Given the description of an element on the screen output the (x, y) to click on. 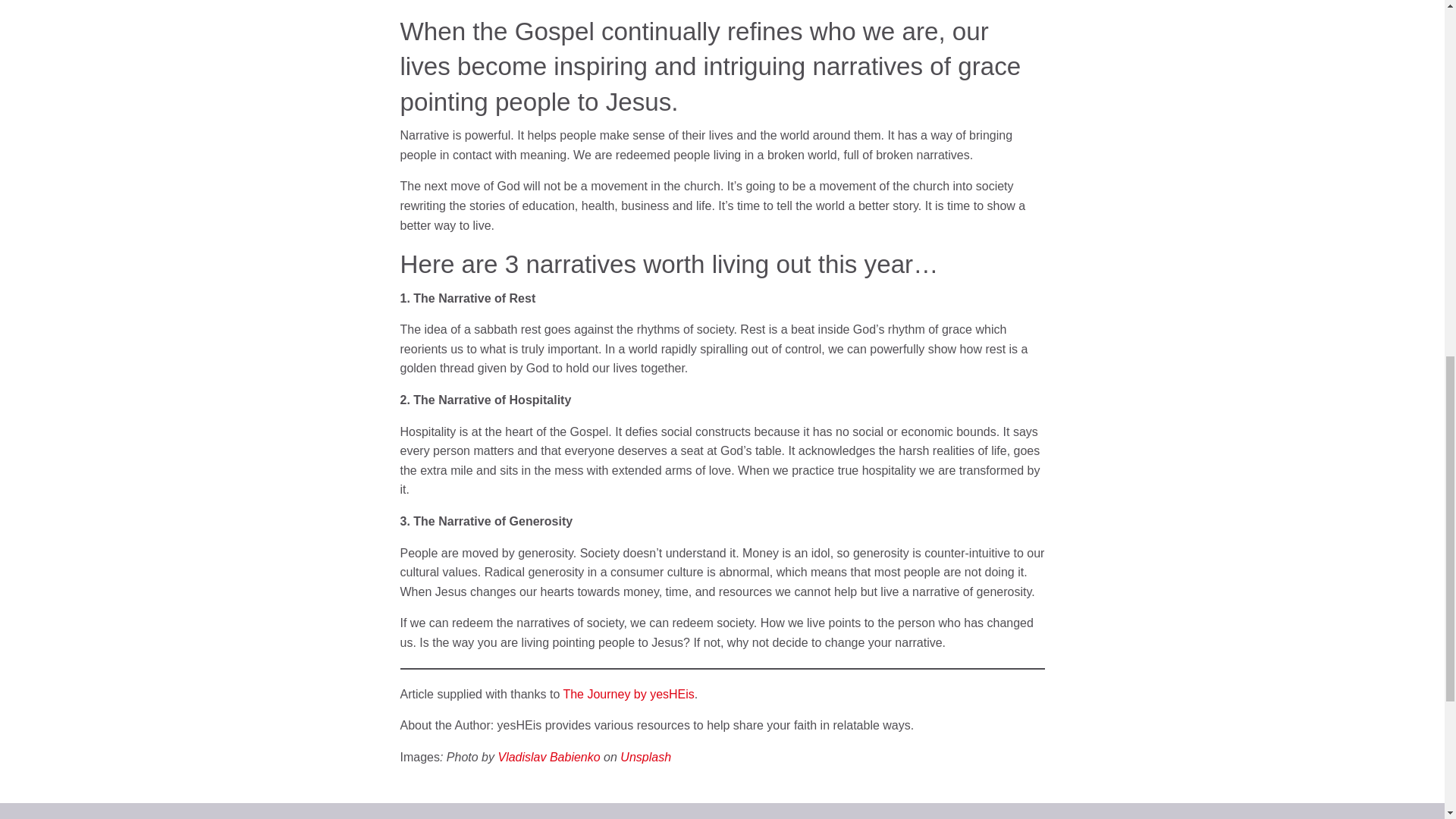
Vladislav Babienko (548, 757)
The Journey by yesHEis (628, 694)
Unsplash (645, 757)
